Given the description of an element on the screen output the (x, y) to click on. 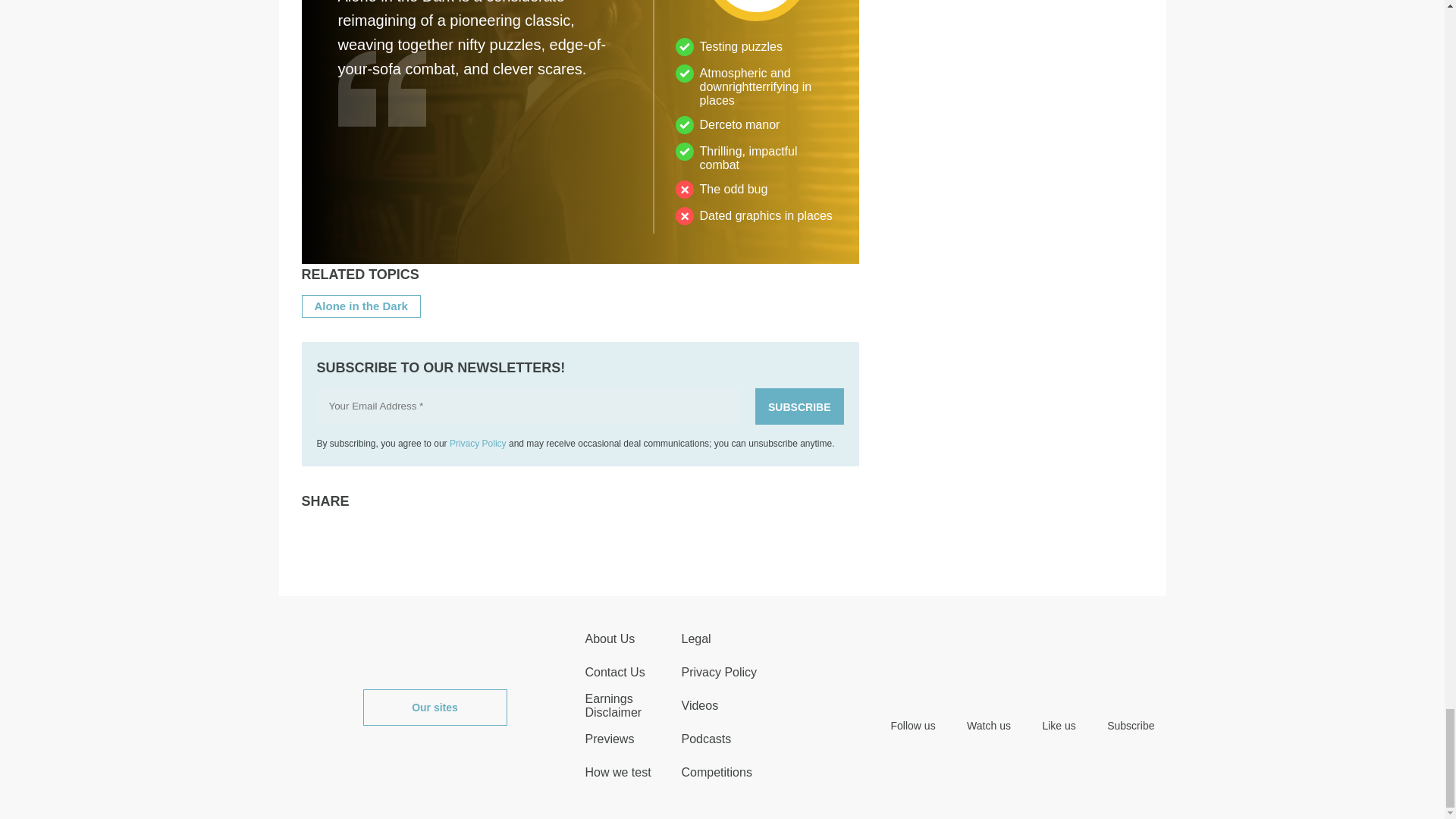
Alone in the Dark (360, 305)
Subscribe (799, 406)
Privacy Policy (477, 443)
Subscribe (799, 406)
